Given the description of an element on the screen output the (x, y) to click on. 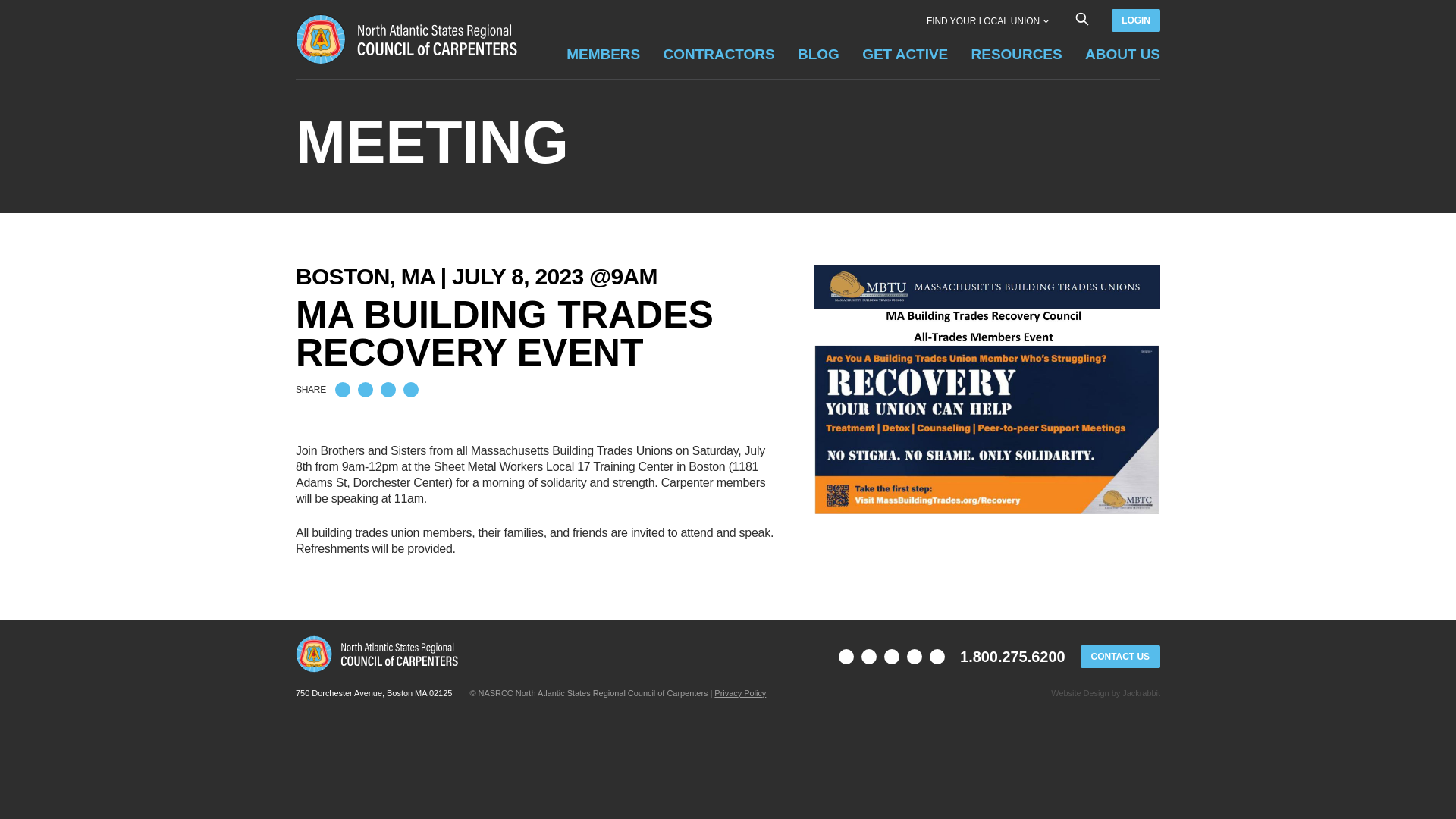
FIND YOUR LOCAL UNION (987, 20)
Website Design by Jackrabbit (1141, 692)
Website Design by Jackrabbit (1079, 692)
